Given the description of an element on the screen output the (x, y) to click on. 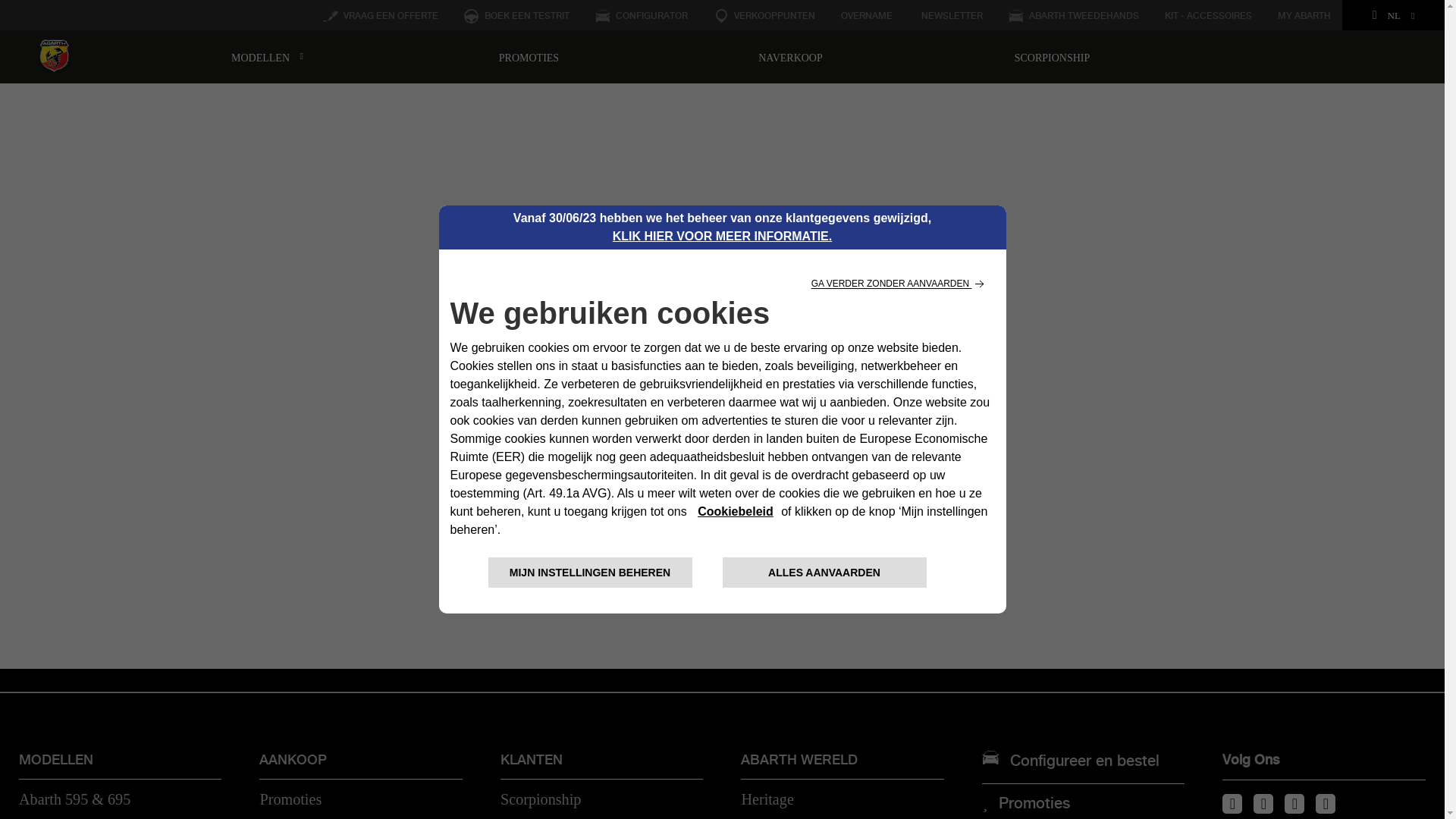
ABARTH TWEEDEHANDS Element type: text (1073, 16)
MY ABARTH Element type: text (1303, 16)
TERUG NAAR HOME PAGE Element type: text (722, 507)
MODELLEN Element type: text (267, 57)
NEWSLETTER Element type: text (950, 16)
BOEK EEN TESTRIT Element type: text (516, 16)
VRAAG EEN OFFERTE Element type: text (380, 16)
Scorpionship Element type: text (540, 798)
OVERNAME Element type: text (866, 16)
KIT - ACCESSOIRES Element type: text (1208, 16)
Promoties Element type: text (290, 798)
VERKOOPPUNTEN Element type: text (764, 16)
NAVERKOOP Element type: text (790, 57)
PROMOTIES Element type: text (528, 57)
Heritage Element type: text (766, 798)
Configureer en bestel Element type: text (1084, 762)
SCORPIONSHIP Element type: text (1052, 57)
Abarth 595 & 695 Element type: text (74, 798)
CONFIGURATOR Element type: text (641, 16)
